Given the description of an element on the screen output the (x, y) to click on. 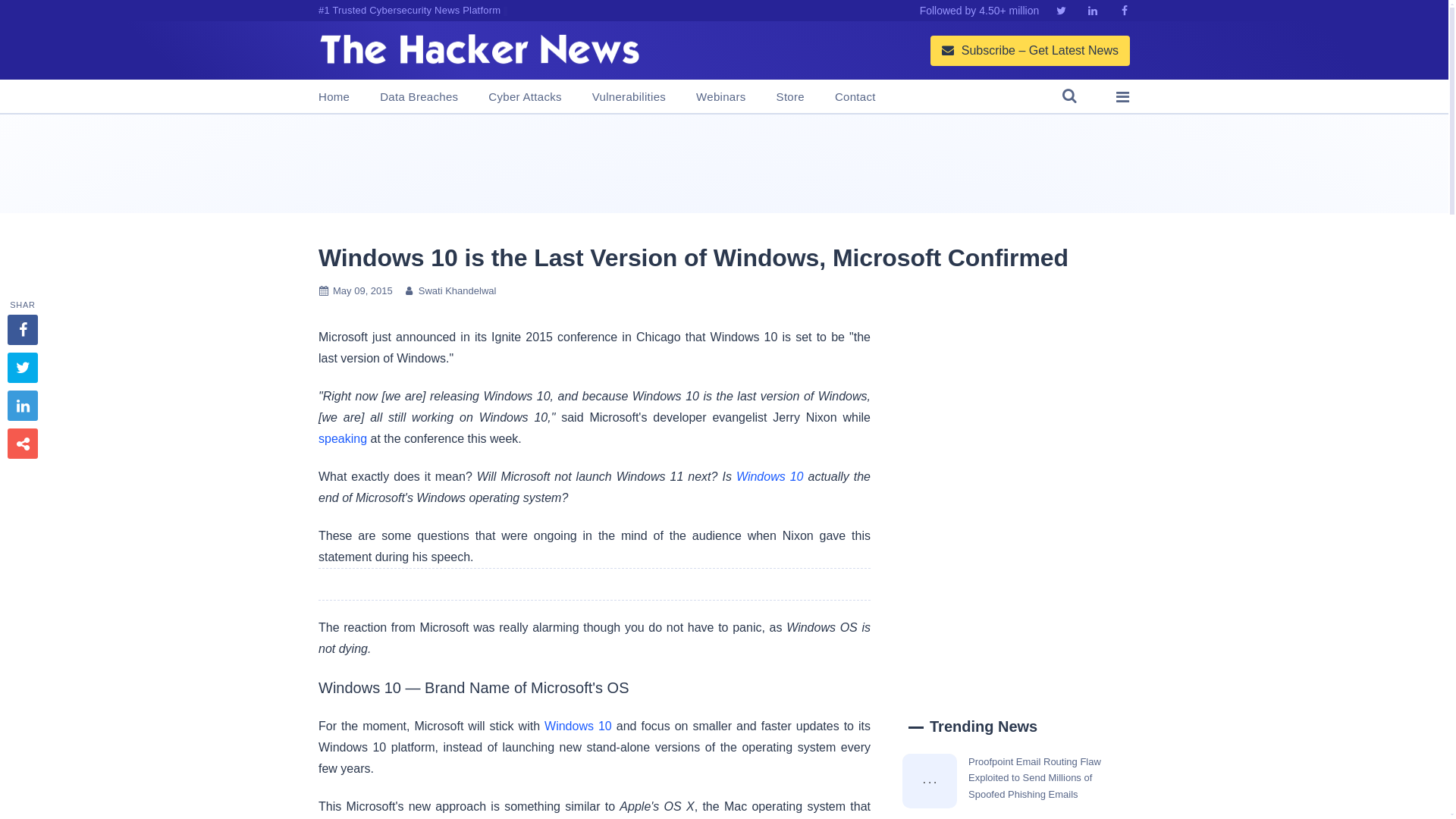
Windows 10 (577, 725)
Data Breaches (419, 96)
Vulnerabilities (628, 96)
Webinars (720, 96)
Contact (855, 96)
Cyber Attacks (523, 96)
Home (333, 96)
speaking (342, 438)
Windows 10 (769, 476)
